Given the description of an element on the screen output the (x, y) to click on. 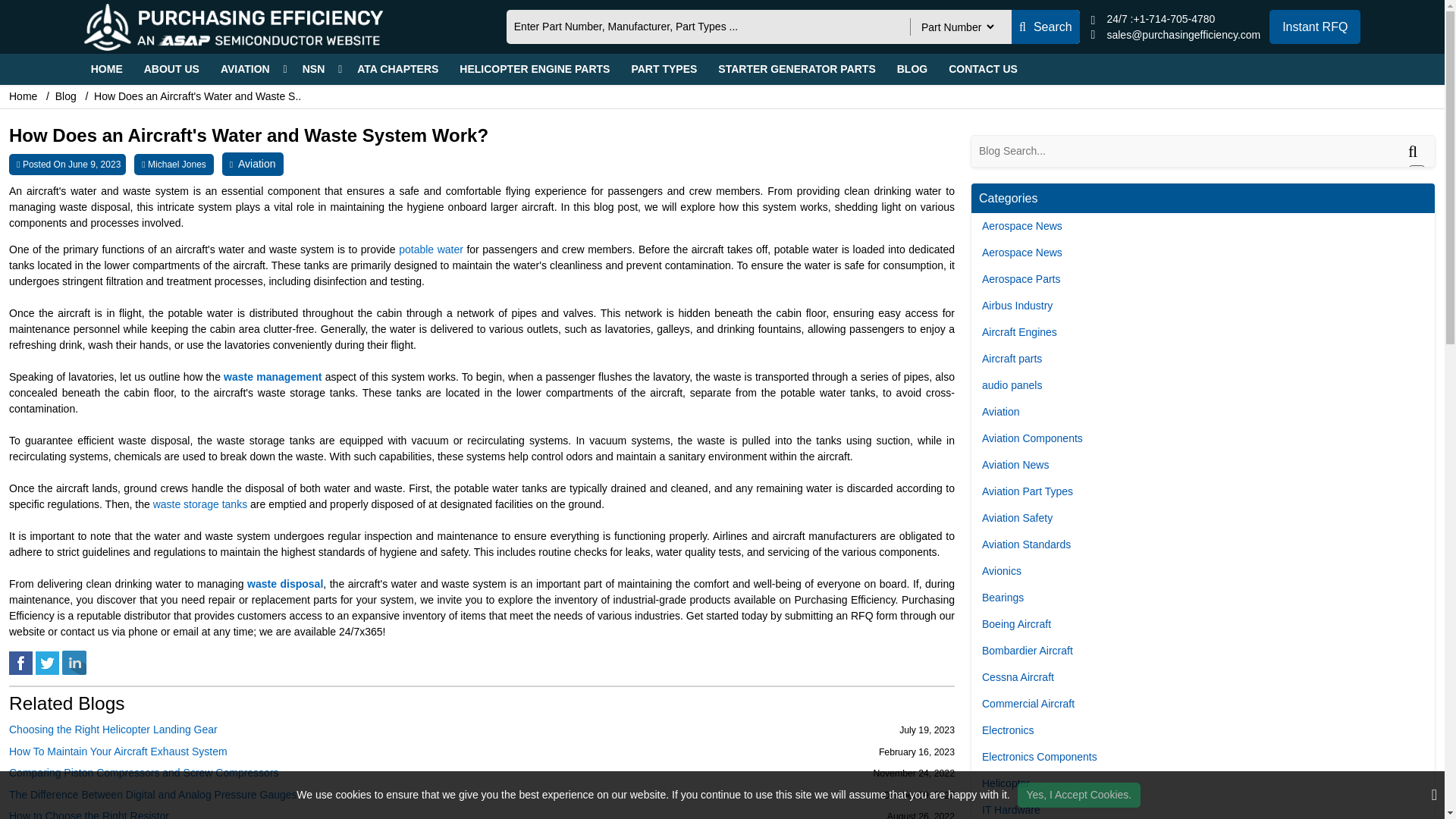
Home  (24, 96)
waste storage tanks (199, 503)
Search (1045, 26)
BLOG (911, 69)
Aviation (257, 163)
STARTER GENERATOR PARTS (796, 69)
PART TYPES (663, 69)
waste management (272, 377)
HOME (106, 69)
CONTACT US (982, 69)
